Given the description of an element on the screen output the (x, y) to click on. 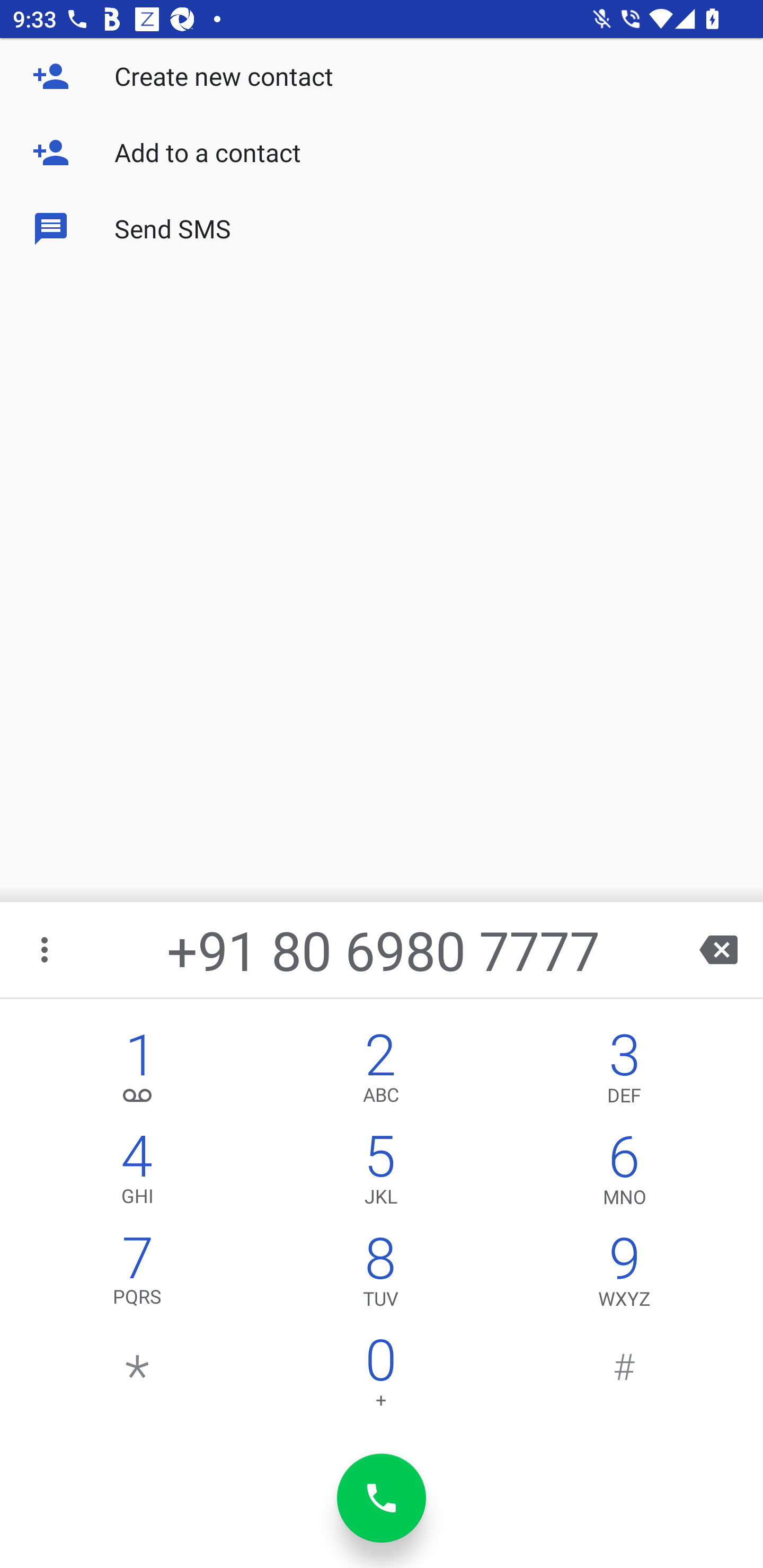
Create new contact (381, 75)
Add to a contact (381, 152)
Send SMS (381, 228)
+91 80 6980 7777 (382, 949)
backspace (718, 949)
More options (45, 949)
1, 1 (137, 1071)
2,ABC 2 ABC (380, 1071)
3,DEF 3 DEF (624, 1071)
4,GHI 4 GHI (137, 1173)
5,JKL 5 JKL (380, 1173)
6,MNO 6 MNO (624, 1173)
7,PQRS 7 PQRS (137, 1275)
8,TUV 8 TUV (380, 1275)
9,WXYZ 9 WXYZ (624, 1275)
* (137, 1377)
0 0 + (380, 1377)
# (624, 1377)
dial (381, 1497)
